Given the description of an element on the screen output the (x, y) to click on. 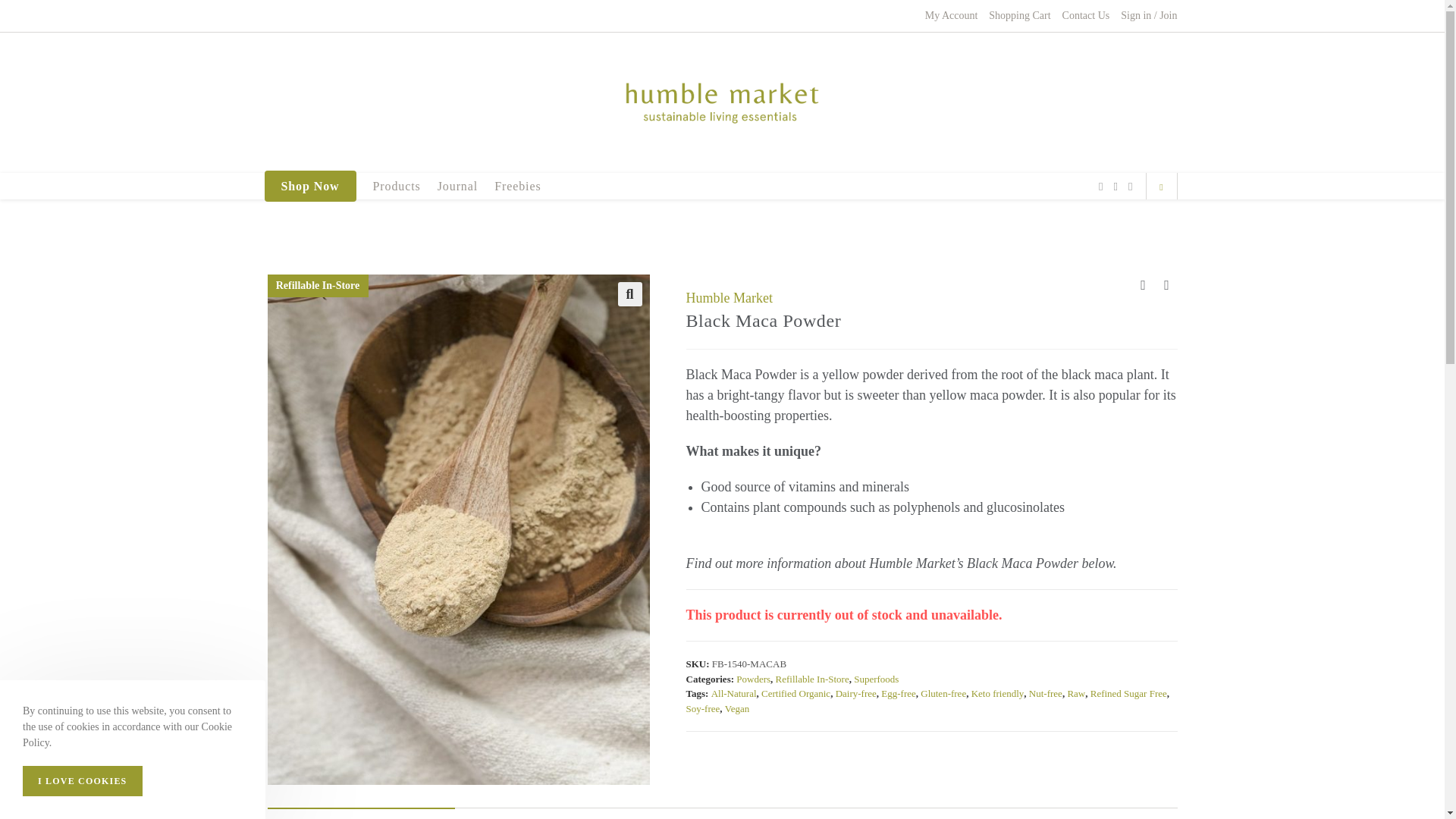
View brand (728, 298)
My Account (951, 15)
Products (397, 185)
Shopping Cart (1018, 15)
Journal (457, 185)
Contact Us (1085, 15)
Shop Now (310, 185)
